Given the description of an element on the screen output the (x, y) to click on. 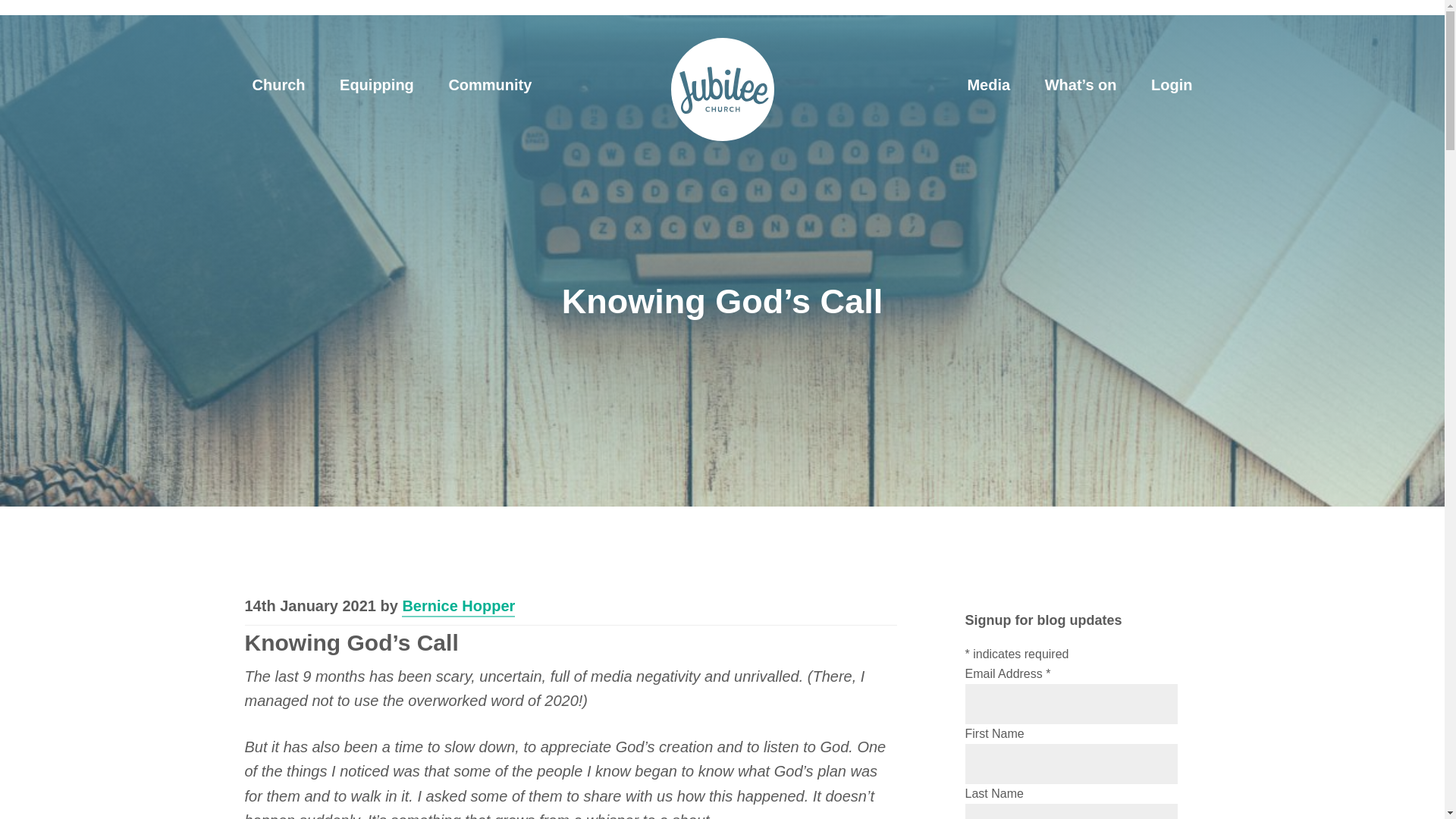
Church (277, 85)
Jubilee Church Solihull (721, 88)
Login (1171, 85)
Bernice Hopper (458, 607)
Equipping (376, 85)
Media (988, 85)
Community (489, 85)
